Given the description of an element on the screen output the (x, y) to click on. 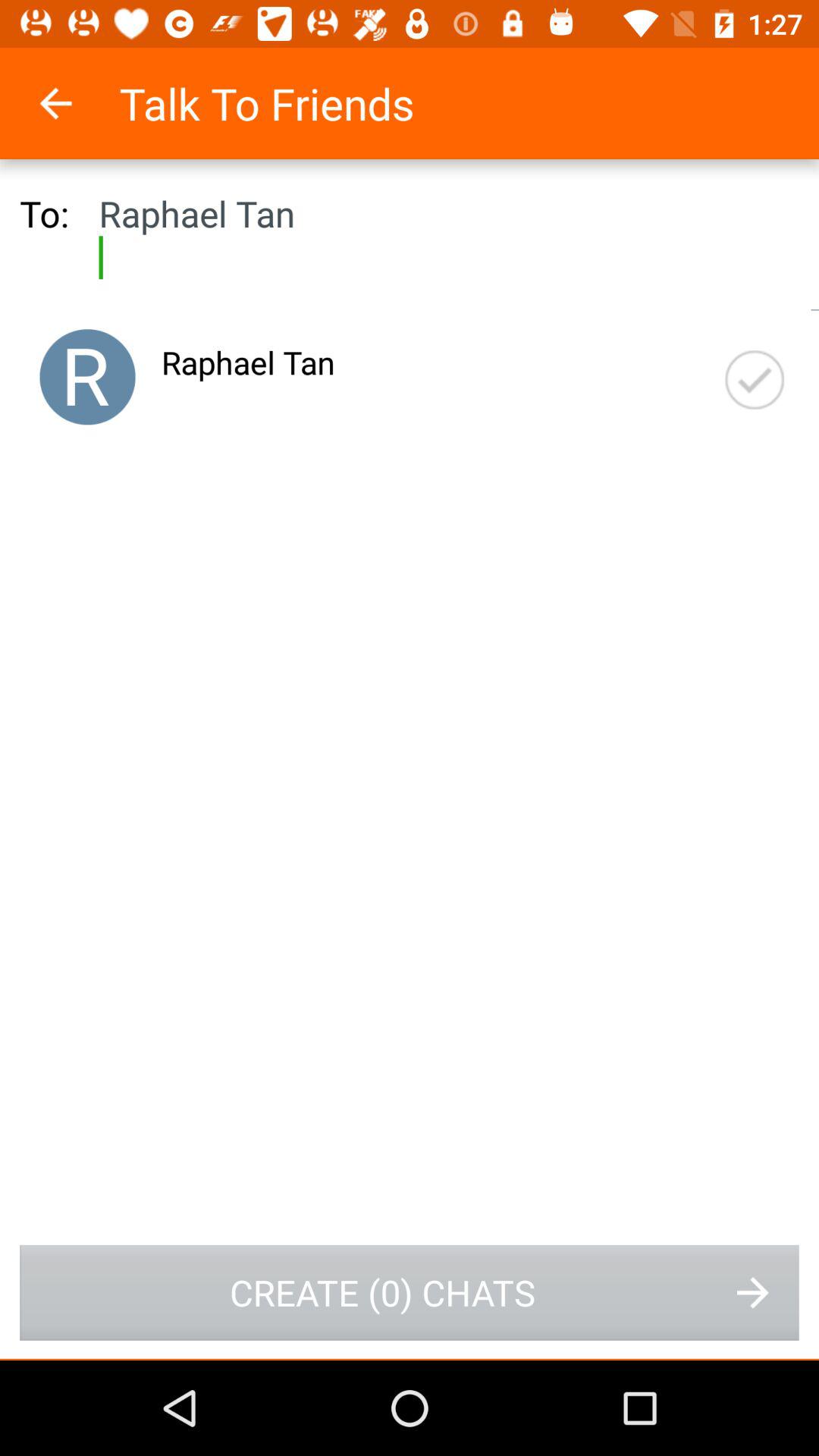
open the icon next to the raphael tan
 icon (754, 380)
